Given the description of an element on the screen output the (x, y) to click on. 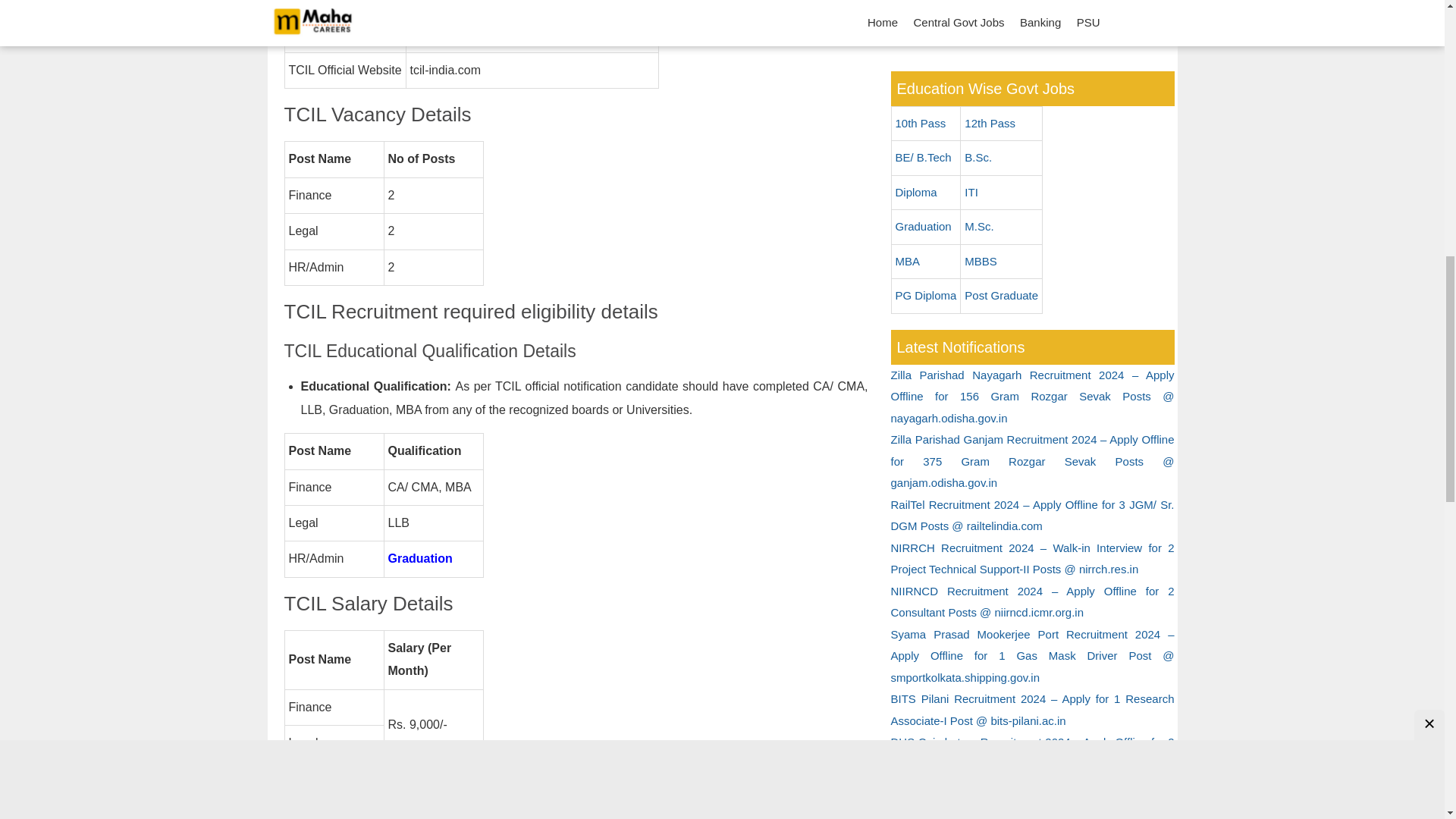
Uttarakhand (1101, 1)
UP (960, 1)
West Bengal (960, 20)
Graduation (420, 558)
New Delhi (479, 2)
